Given the description of an element on the screen output the (x, y) to click on. 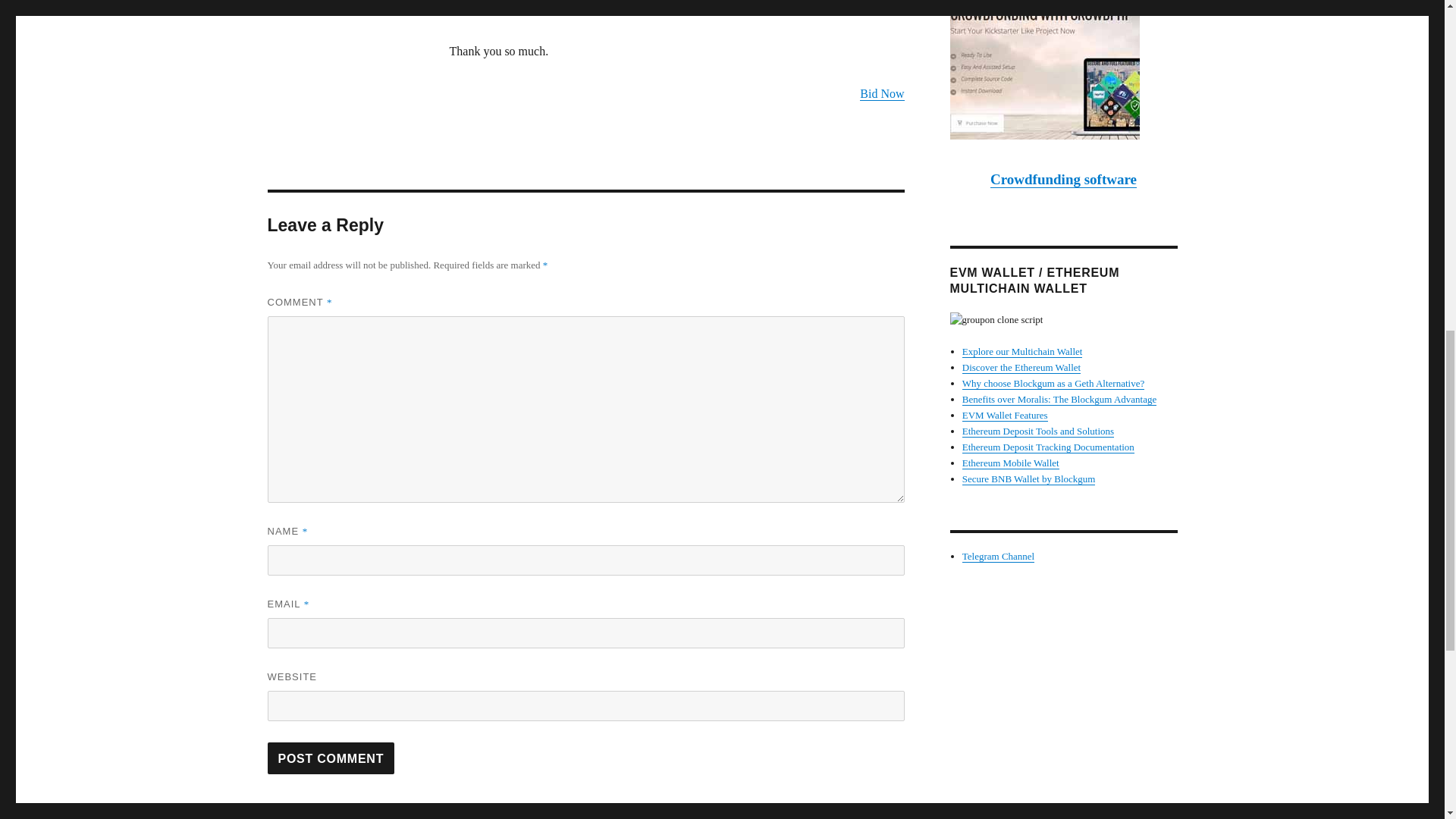
Ethereum Deposit Tools and Solutions (1037, 430)
Benefits over Moralis: The Blockgum Advantage (1059, 398)
Post Comment (330, 757)
Telegram channel (997, 555)
Why choose Blockgum as a Geth Alternative? (1053, 383)
Post Comment (330, 757)
EVM Wallet Features (1005, 414)
Discover the Ethereum Wallet (1021, 367)
Bid Now (882, 92)
Ethereum Deposit Tracking Documentation (1048, 446)
Crowdfunding software (1063, 179)
Explore our Multichain Wallet (1022, 351)
Kickstarter Clone (1062, 69)
Ethereum Mobile Wallet (1010, 462)
Crowdfunding software (1063, 179)
